Given the description of an element on the screen output the (x, y) to click on. 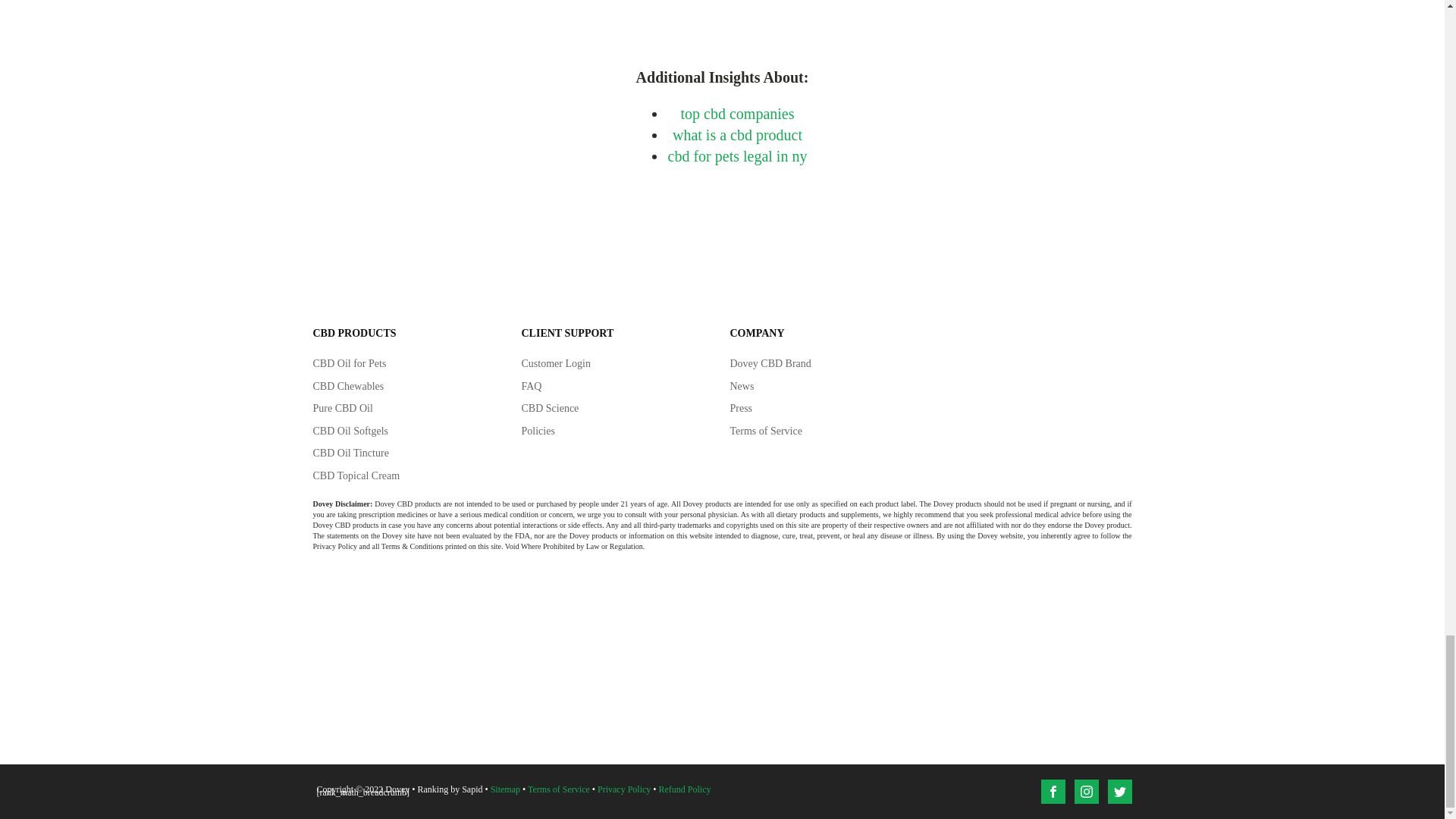
CBD Chewables (348, 386)
CBD Oil Tincture (350, 453)
CBD Oil Softgels (350, 431)
top cbd companies (737, 113)
Pure CBD Oil (342, 408)
CBD PRODUCTS (354, 333)
CBD Oil for Pets (349, 363)
cbd for pets legal in ny (738, 156)
CBD Topical Cream (355, 476)
what is a cbd product (737, 134)
